Given the description of an element on the screen output the (x, y) to click on. 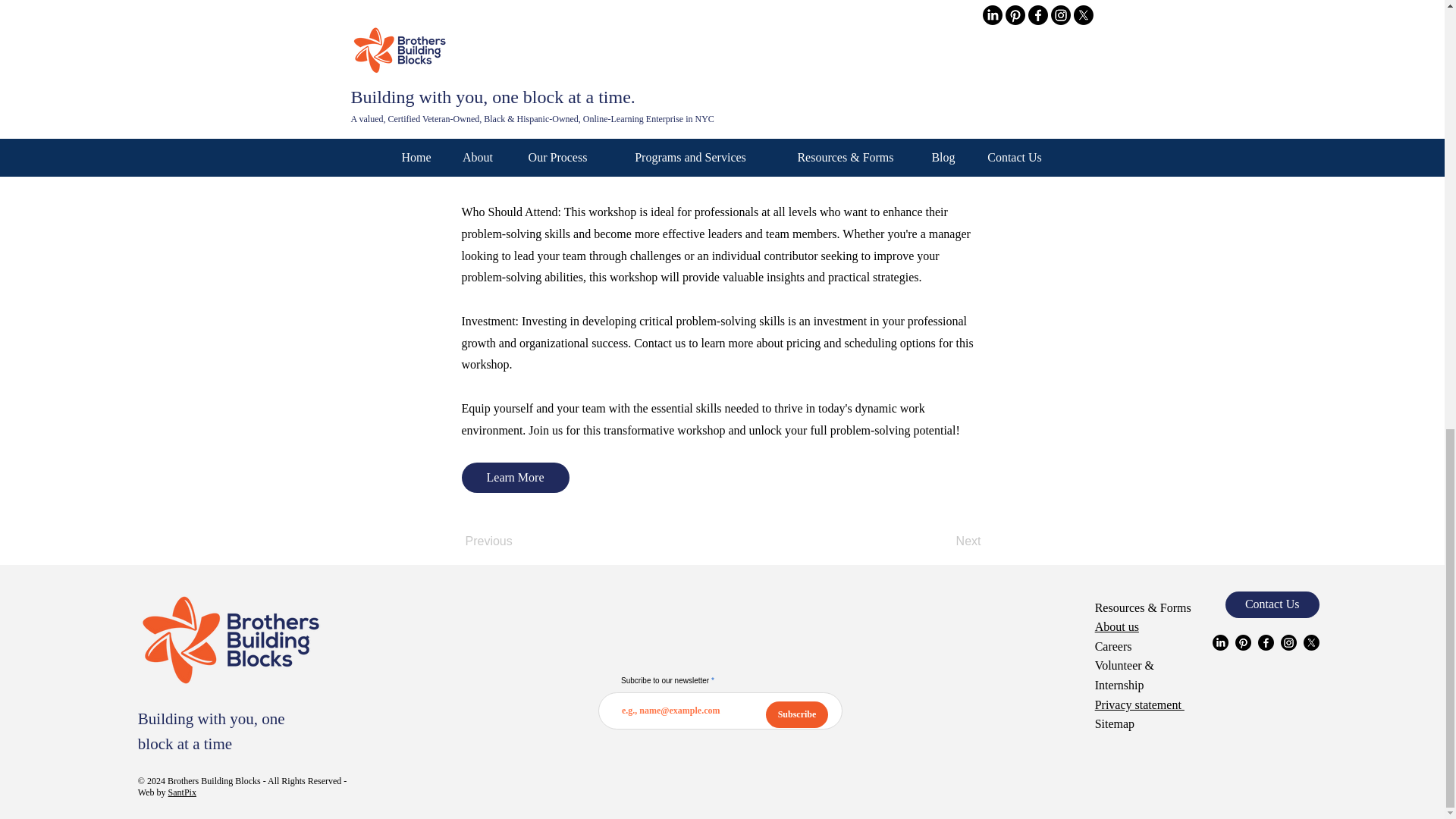
Learn More (515, 477)
Previous (515, 542)
Privacy statement  (1139, 704)
Next (943, 542)
SantPix (182, 792)
About us (1116, 626)
Subscribe (796, 714)
Contact Us (1272, 604)
